Given the description of an element on the screen output the (x, y) to click on. 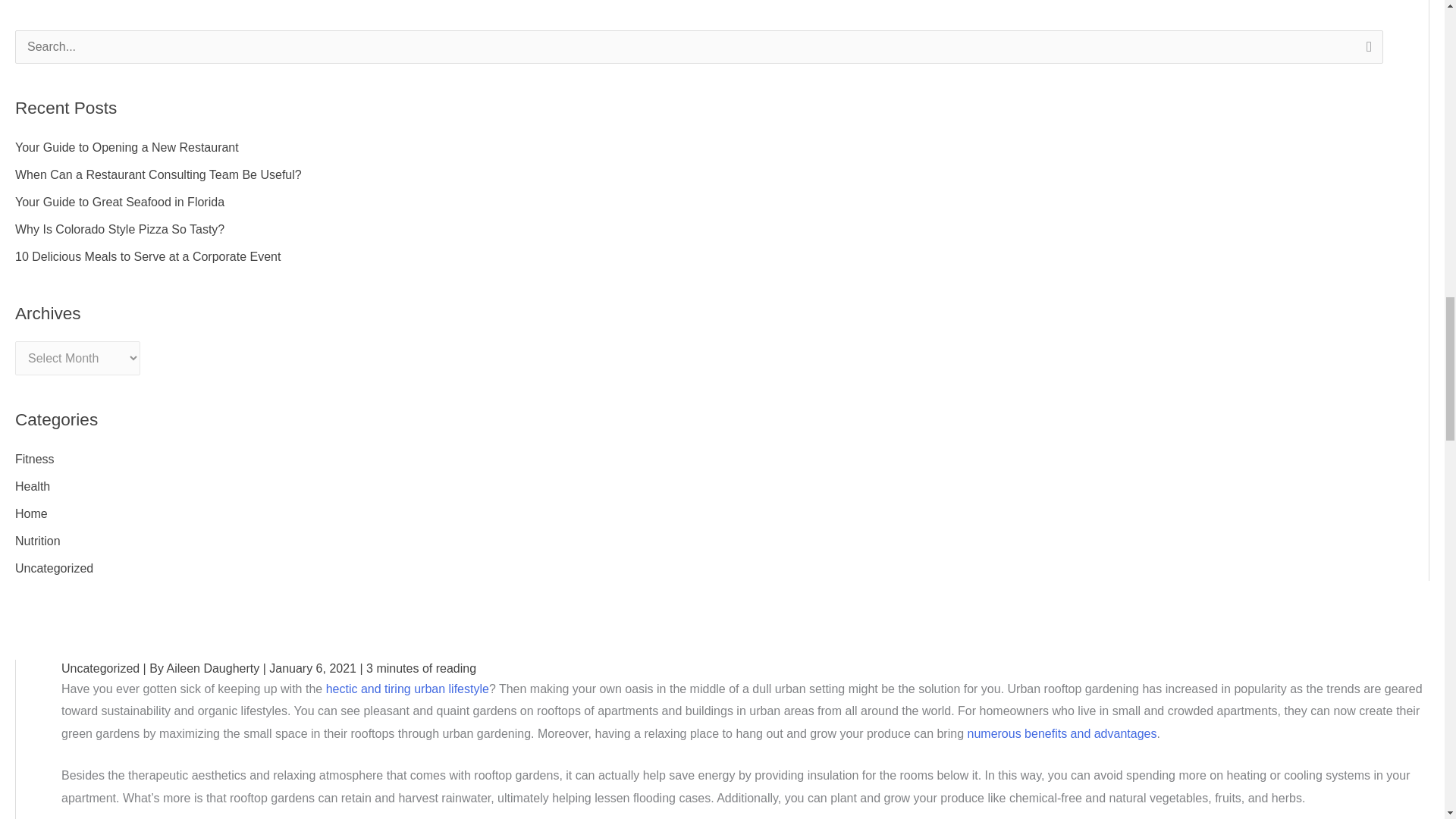
Why Is Colorado Style Pizza So Tasty? (119, 228)
Health (31, 486)
Uncategorized (53, 567)
View all posts by Aileen Daugherty (213, 667)
numerous benefits and advantages (1062, 733)
Nutrition (37, 540)
hectic and tiring urban lifestyle (405, 688)
Home (31, 513)
10 Delicious Meals to Serve at a Corporate Event (147, 256)
Uncategorized (100, 667)
